Given the description of an element on the screen output the (x, y) to click on. 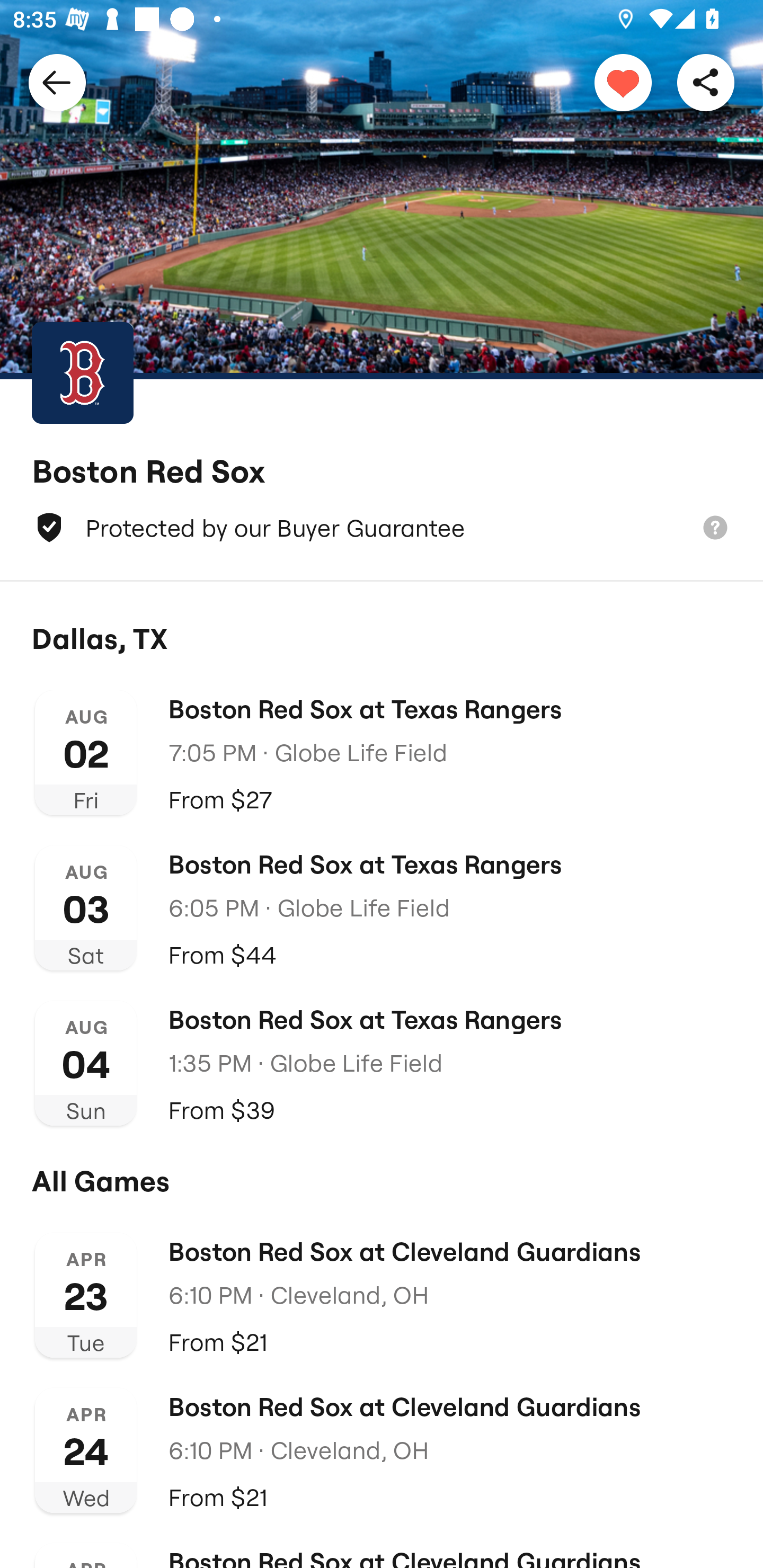
Back (57, 81)
Track this performer (623, 81)
Share this performer (705, 81)
Protected by our Buyer Guarantee Learn more (381, 527)
